Given the description of an element on the screen output the (x, y) to click on. 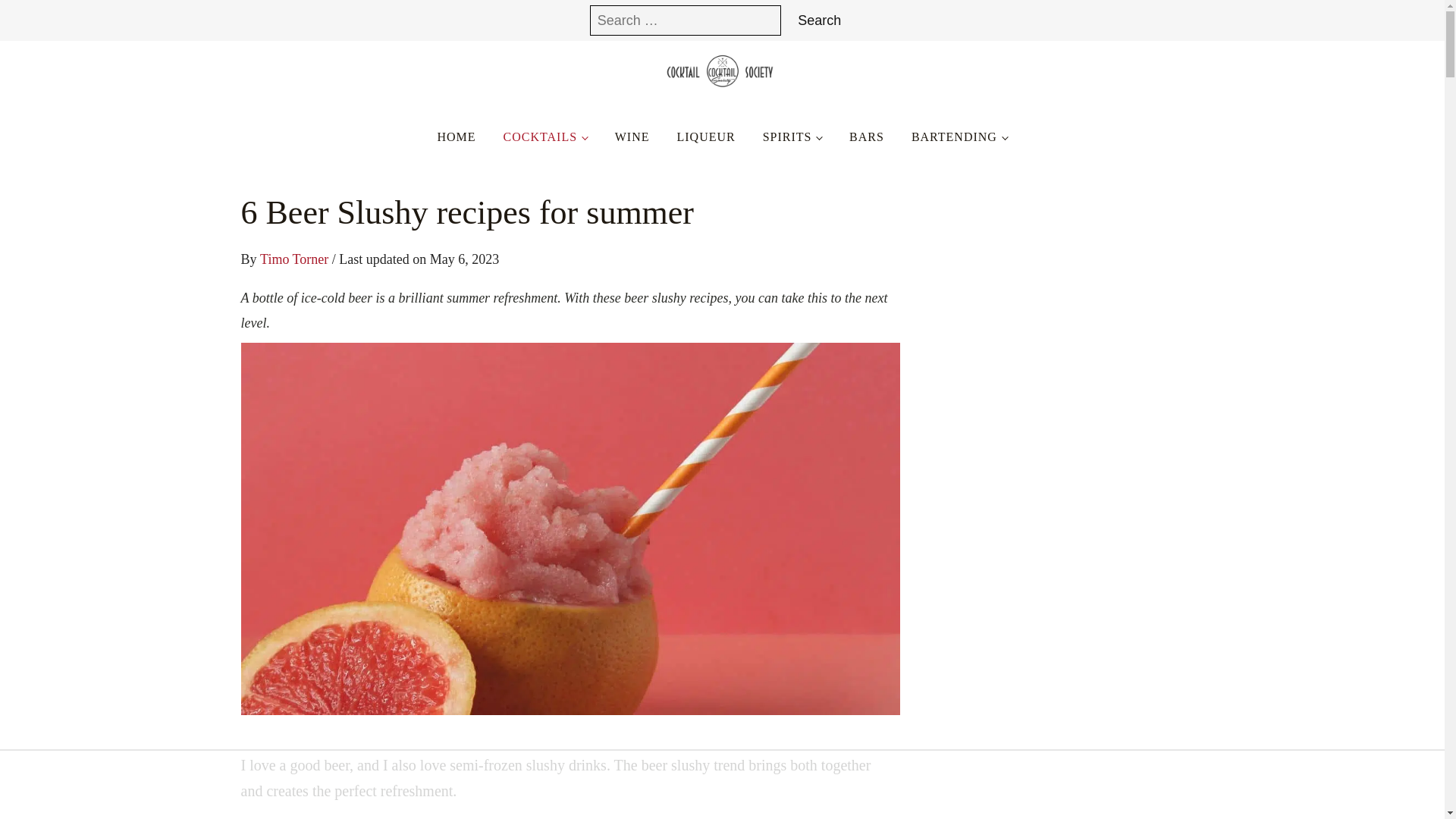
Timo Torner (294, 258)
LIQUEUR (705, 137)
WINE (632, 137)
Search (819, 20)
SPIRITS (792, 137)
HOME (456, 137)
Search (819, 20)
BARS (866, 137)
Search (819, 20)
BARTENDING (960, 137)
